Given the description of an element on the screen output the (x, y) to click on. 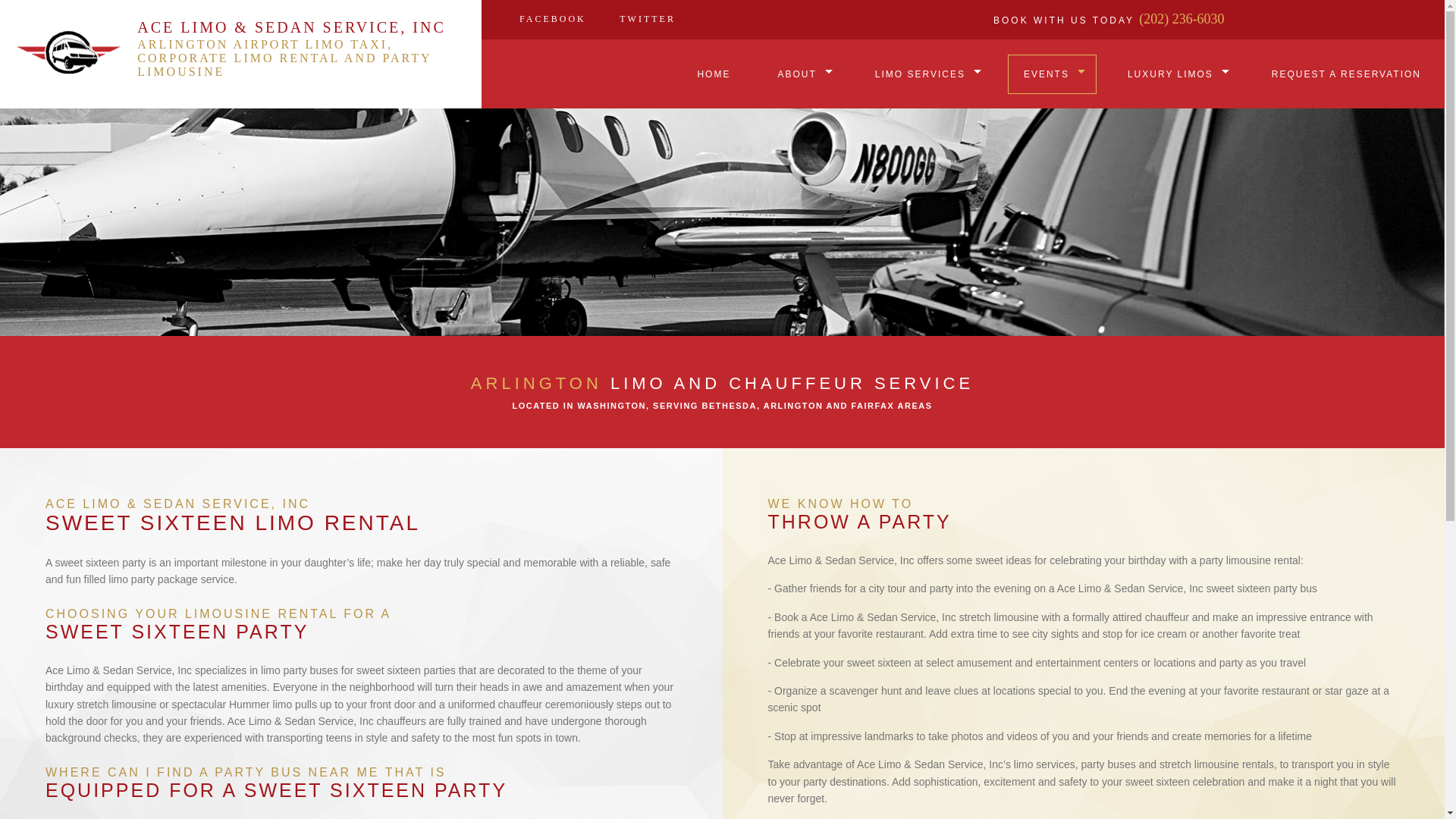
EVENTS (1051, 74)
FACEBOOK (552, 18)
HOME (713, 74)
LUXURY LIMOS (1176, 74)
ABOUT (802, 74)
LIMO SERVICES (925, 74)
TWITTER (647, 18)
